Given the description of an element on the screen output the (x, y) to click on. 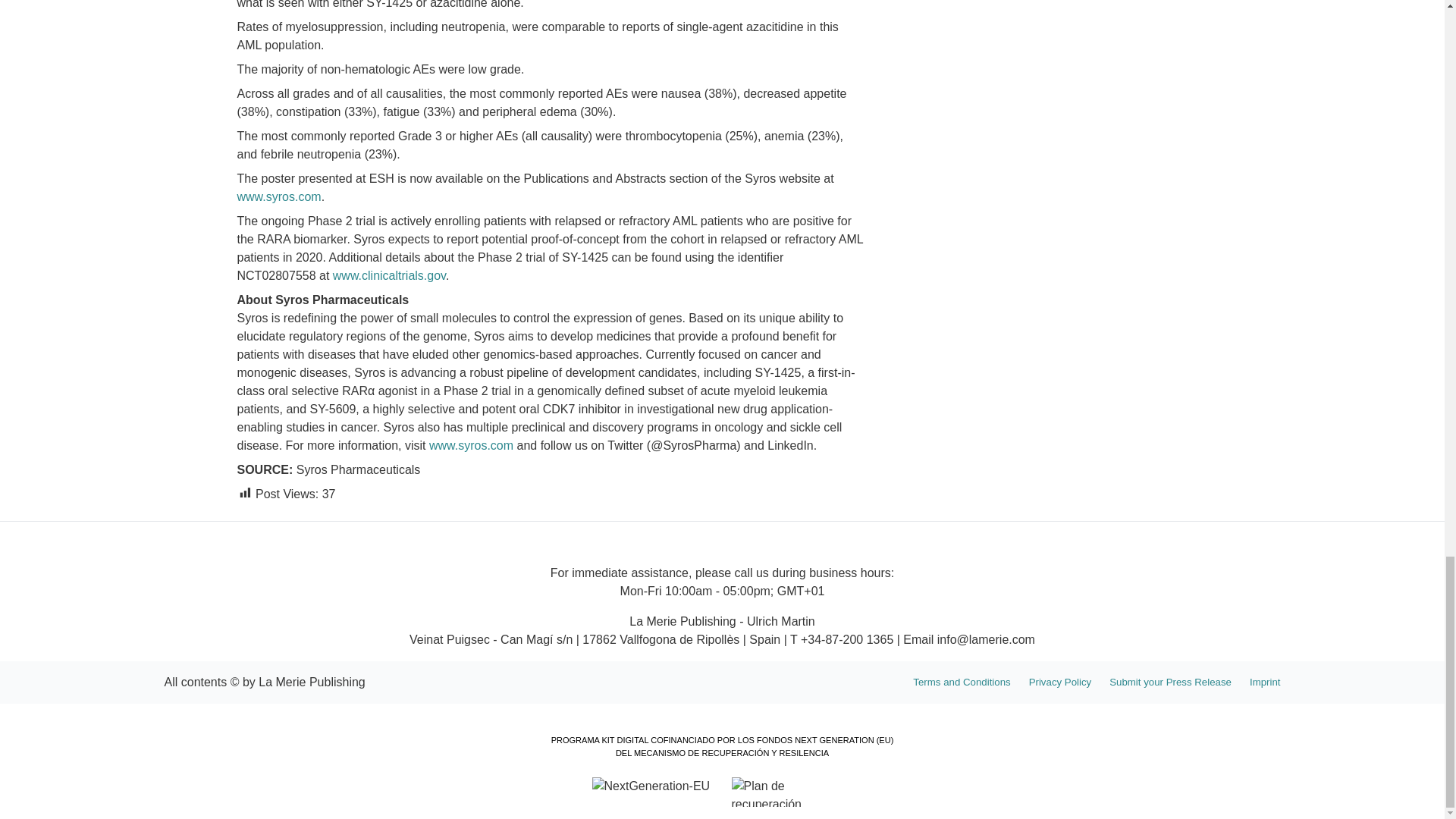
www.syros.com (471, 444)
www.clinicaltrials.gov (389, 274)
www.syros.com (277, 195)
